Given the description of an element on the screen output the (x, y) to click on. 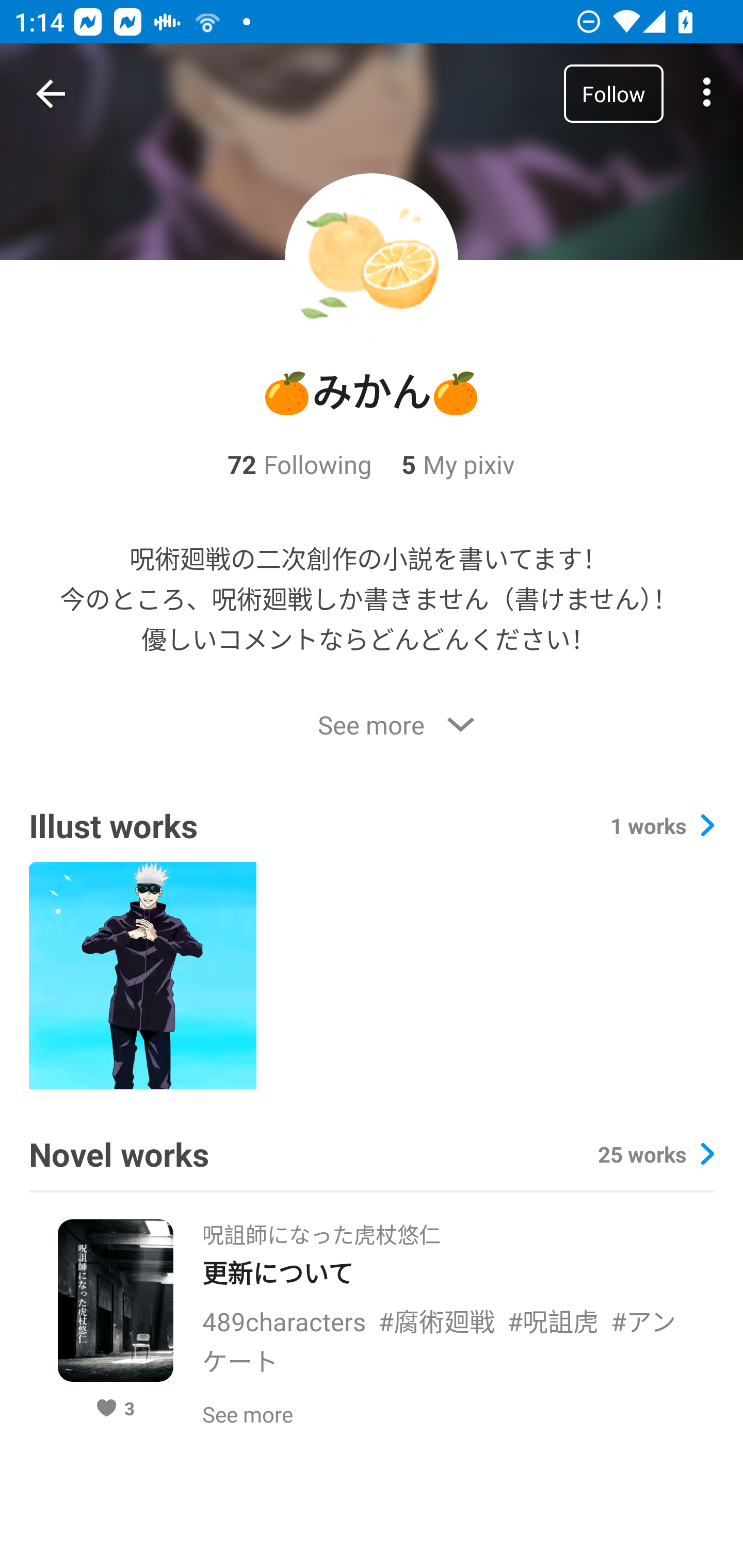
Navigate up (50, 93)
More options (706, 93)
Follow (613, 93)
72 Following (299, 463)
5 My pixiv (443, 463)
See more (371, 724)
1 works (662, 825)
25 works (656, 1153)
呪詛師になった虎杖悠仁 (321, 1228)
